Given the description of an element on the screen output the (x, y) to click on. 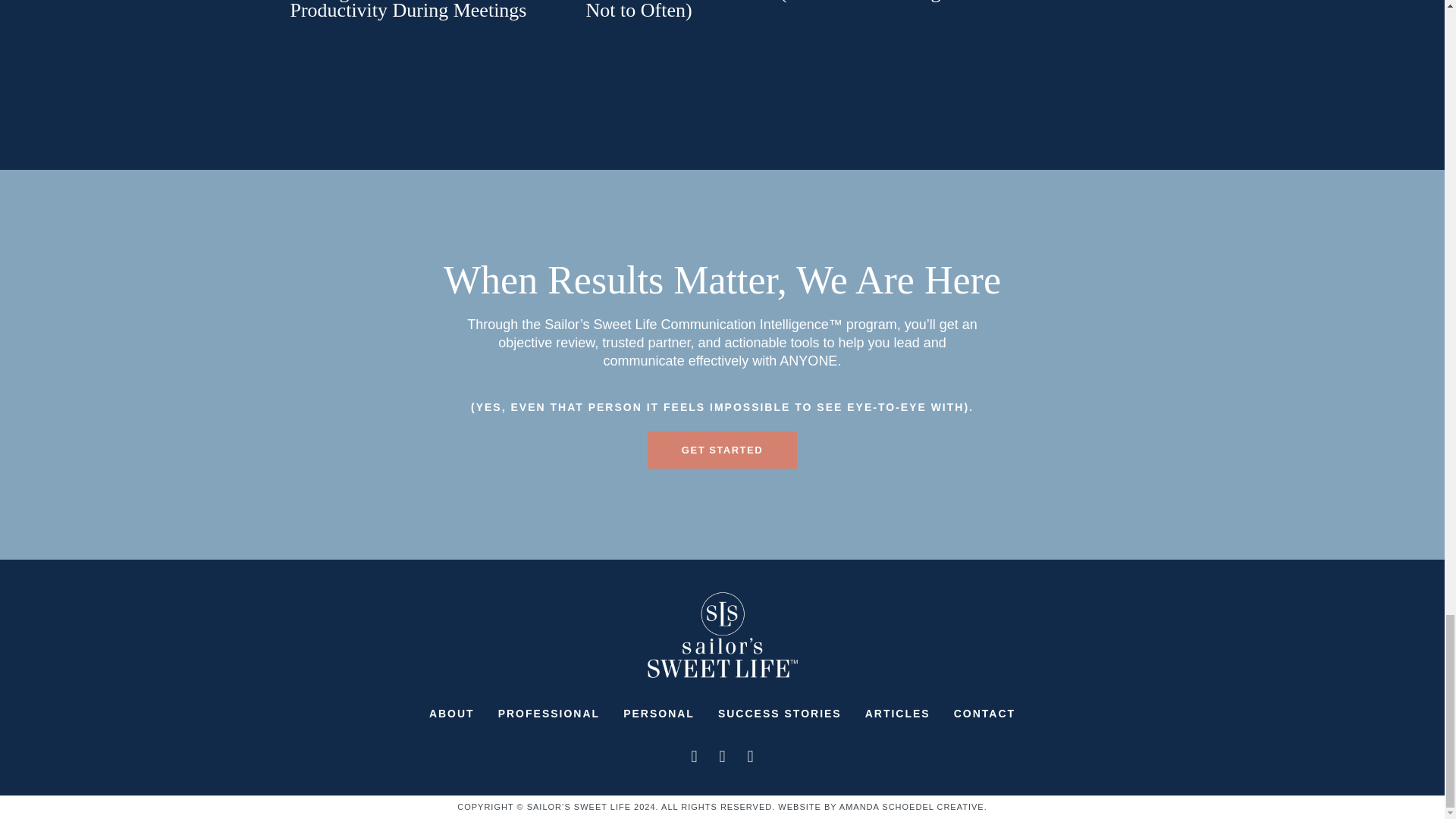
Enneagram to Maximize Productivity During Meetings (407, 10)
